Given the description of an element on the screen output the (x, y) to click on. 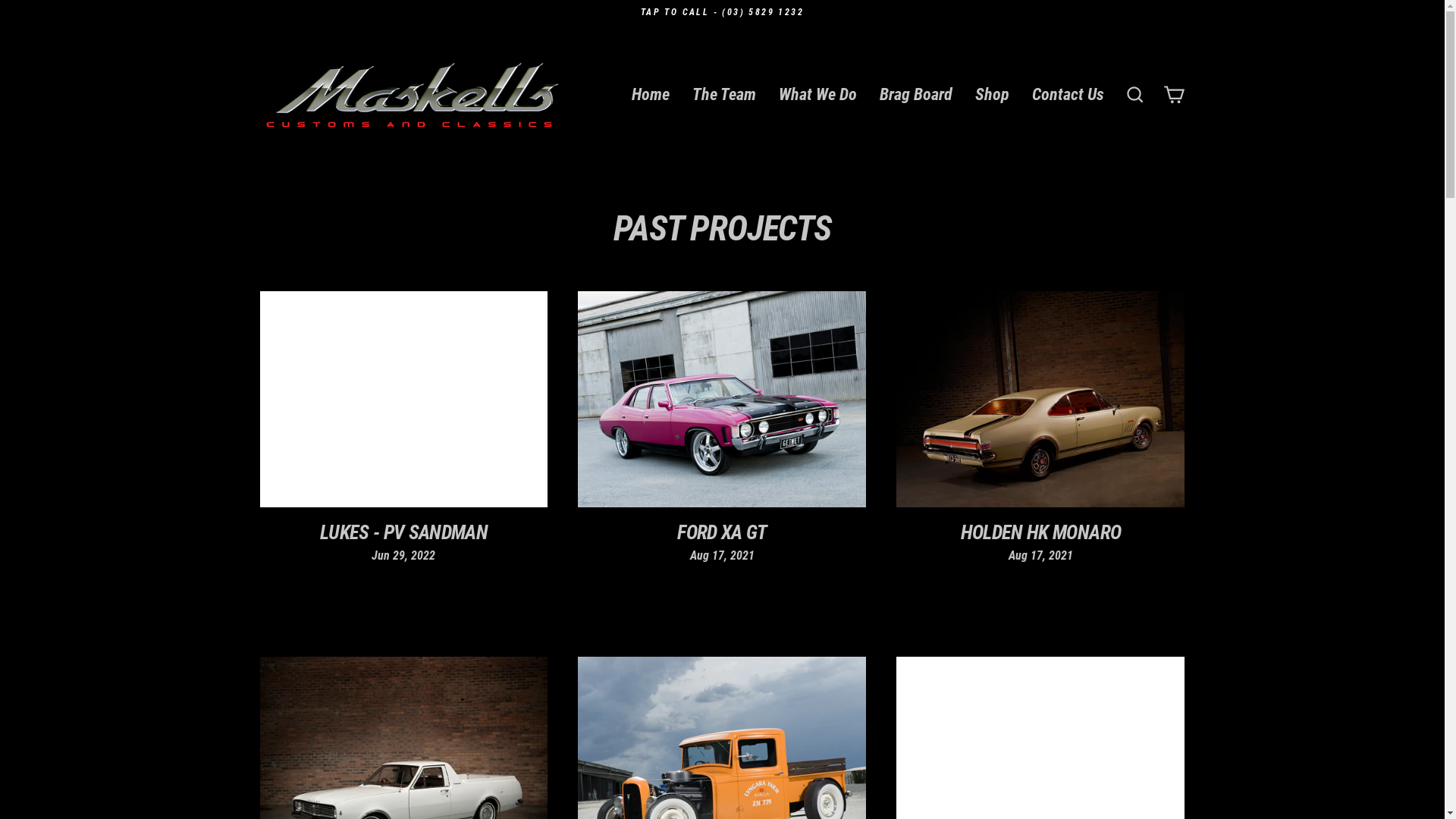
Contact Us Element type: text (1067, 94)
HOLDEN HK MONARO Element type: text (1040, 531)
LUKES - PV SANDMAN Element type: text (403, 531)
What We Do Element type: text (817, 94)
Shop Element type: text (991, 94)
Skip to content Element type: text (0, 0)
TAP TO CALL - (03) 5829 1232 Element type: text (722, 12)
FORD XA GT Element type: text (721, 531)
Home Element type: text (650, 94)
The Team Element type: text (723, 94)
Cart Element type: text (1173, 94)
Brag Board Element type: text (915, 94)
Search Element type: text (1134, 94)
